Given the description of an element on the screen output the (x, y) to click on. 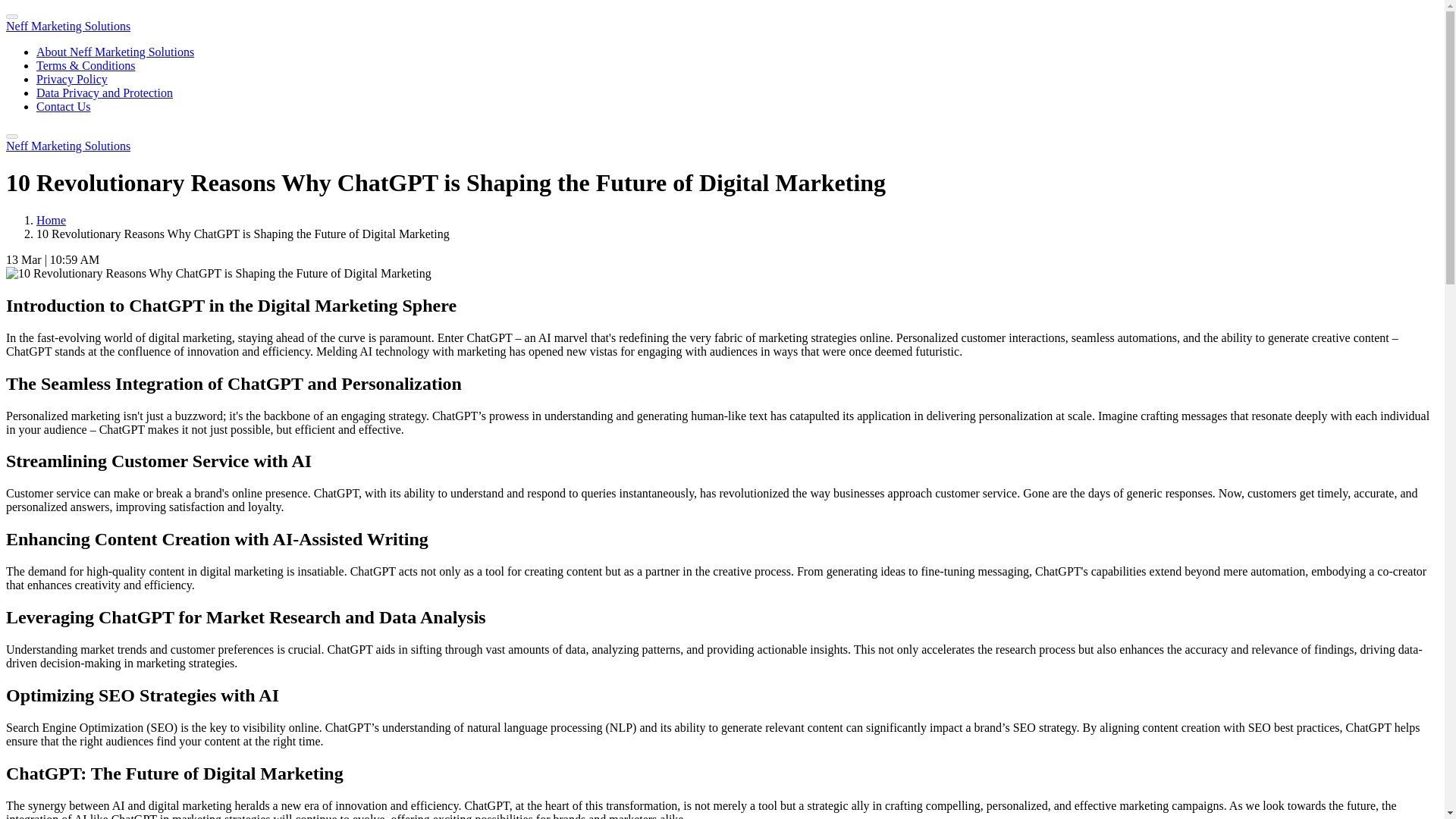
About Neff Marketing Solutions (114, 51)
Contact Us (63, 106)
Neff Marketing Solutions (68, 145)
Home (50, 219)
Data Privacy and Protection (104, 92)
Privacy Policy (71, 78)
Neff Marketing Solutions (68, 25)
menu (11, 136)
